Given the description of an element on the screen output the (x, y) to click on. 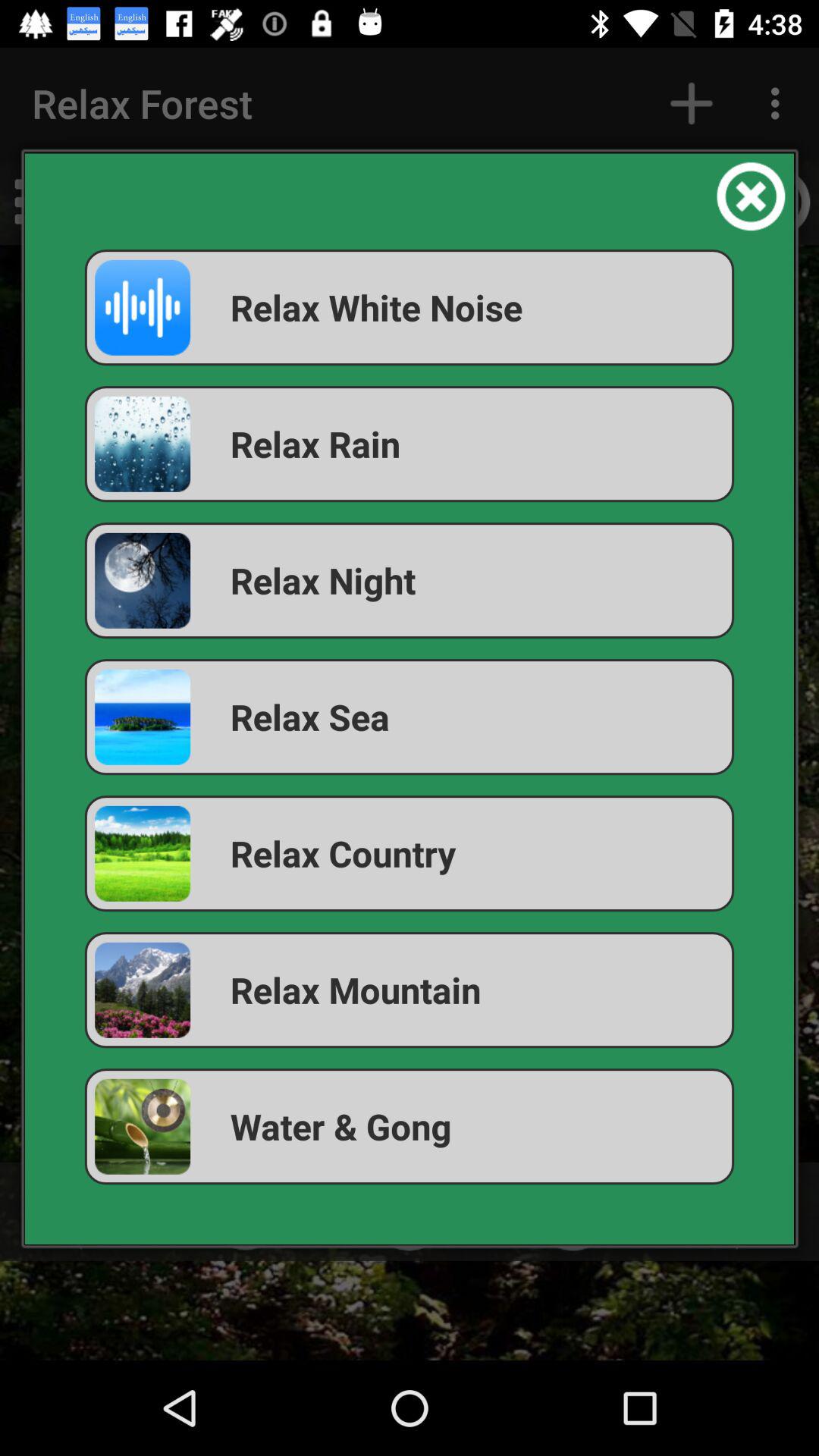
press app below relax mountain app (409, 1126)
